Given the description of an element on the screen output the (x, y) to click on. 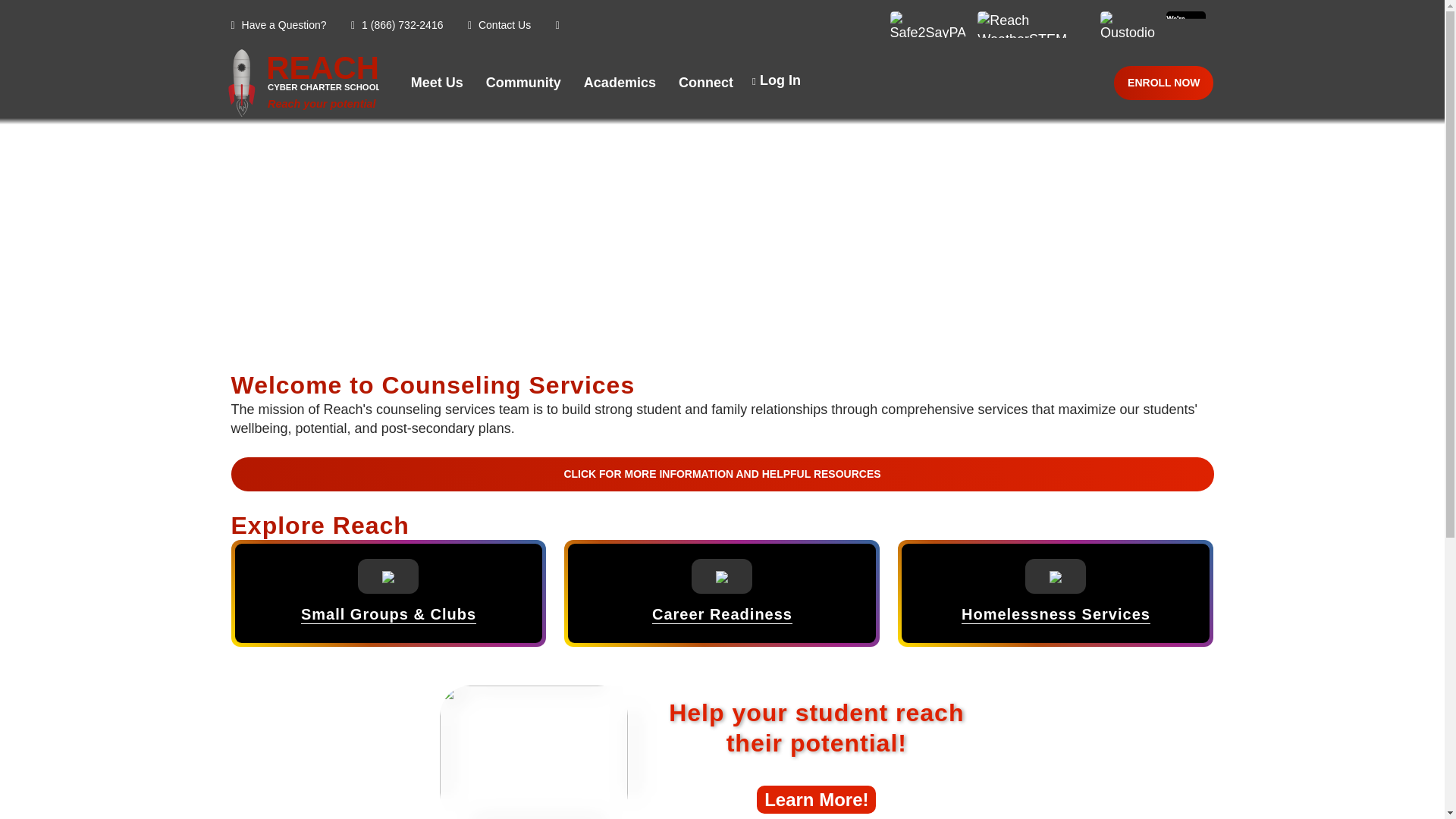
Contact Us (499, 24)
Academics (302, 83)
Meet Us (619, 83)
Community (436, 83)
Have a Question? (524, 83)
